Given the description of an element on the screen output the (x, y) to click on. 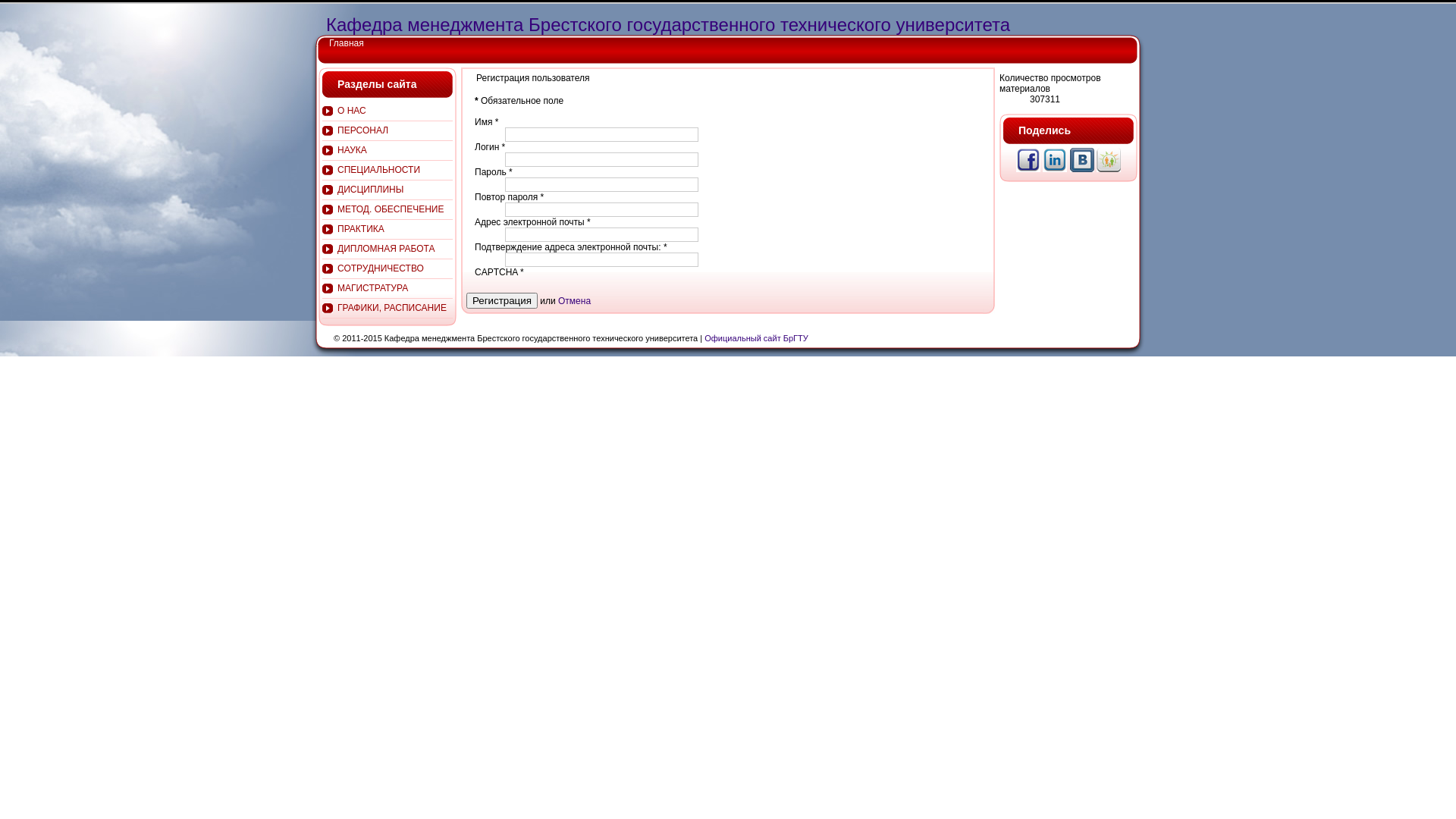
MOD_MVSOCIALBUTTONS_SUBMIT Element type: hover (1108, 168)
MOD_MVSOCIALBUTTONS_SUBMIT Element type: hover (1055, 168)
MOD_MVSOCIALBUTTONS_SUBMIT Element type: hover (1083, 168)
MOD_MVSOCIALBUTTONS_SUBMIT Element type: hover (1029, 168)
